Given the description of an element on the screen output the (x, y) to click on. 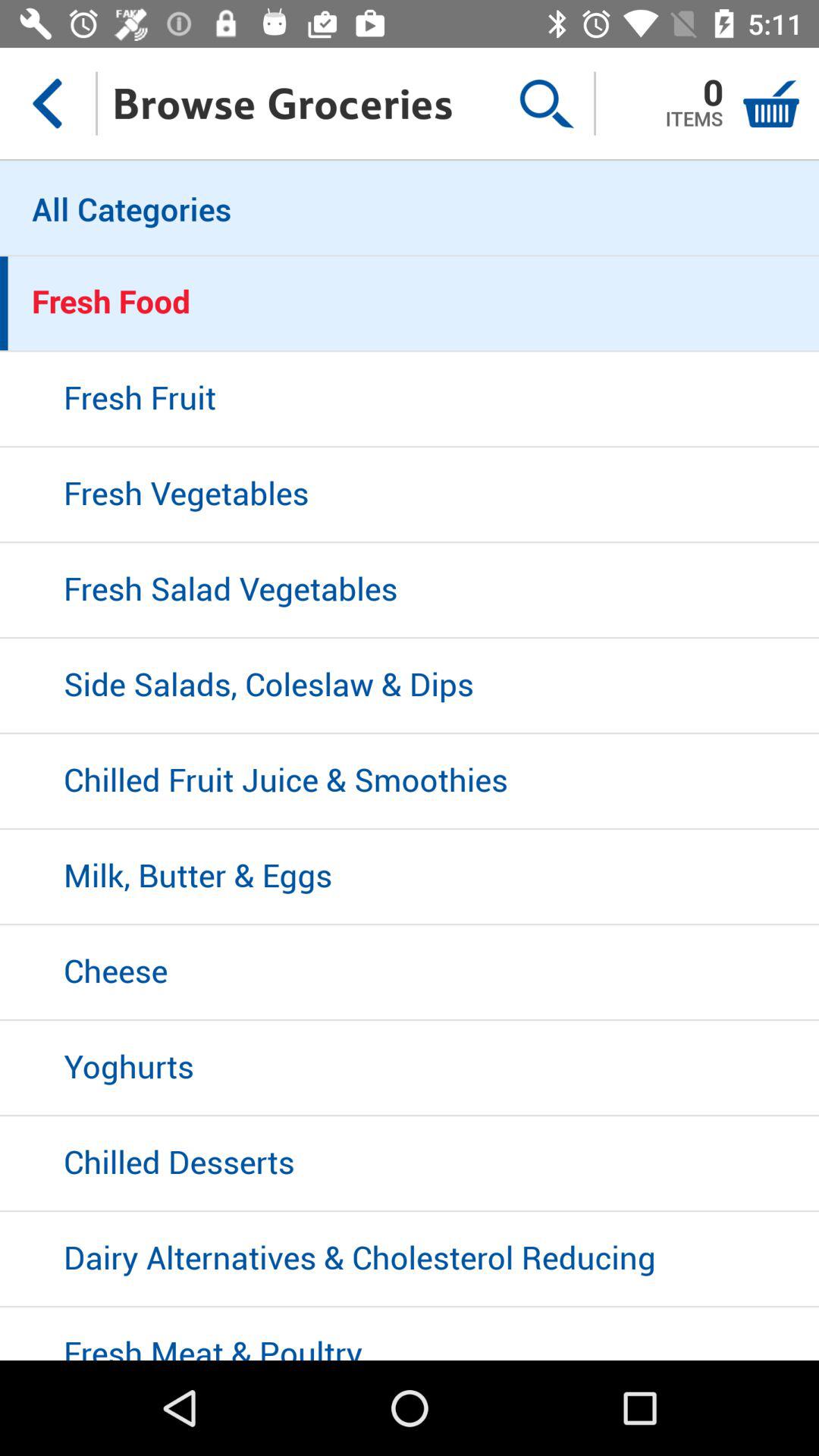
scroll to the yoghurts item (409, 1068)
